Given the description of an element on the screen output the (x, y) to click on. 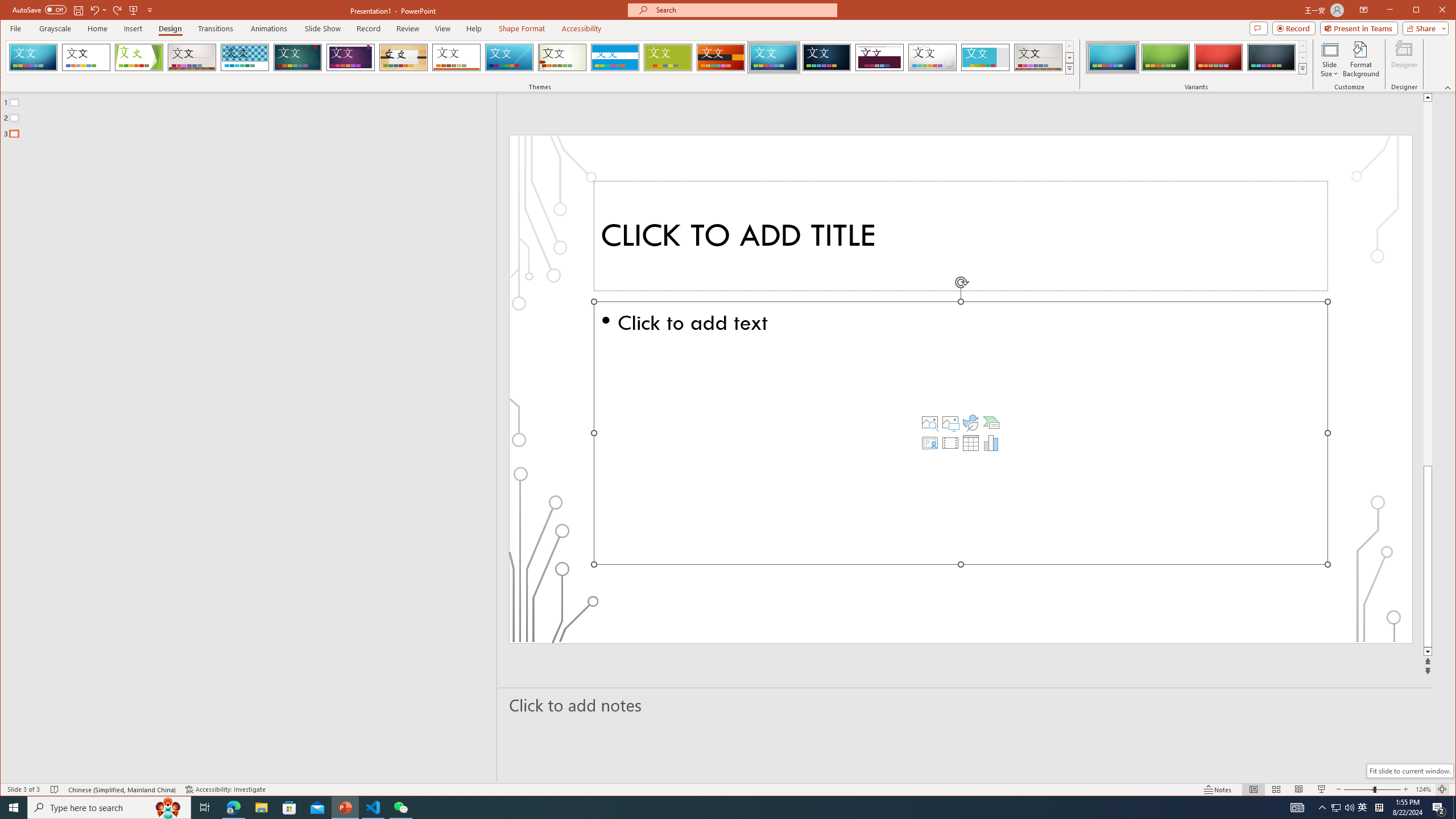
Droplet (932, 57)
Wisp (561, 57)
Circuit (773, 57)
